Given the description of an element on the screen output the (x, y) to click on. 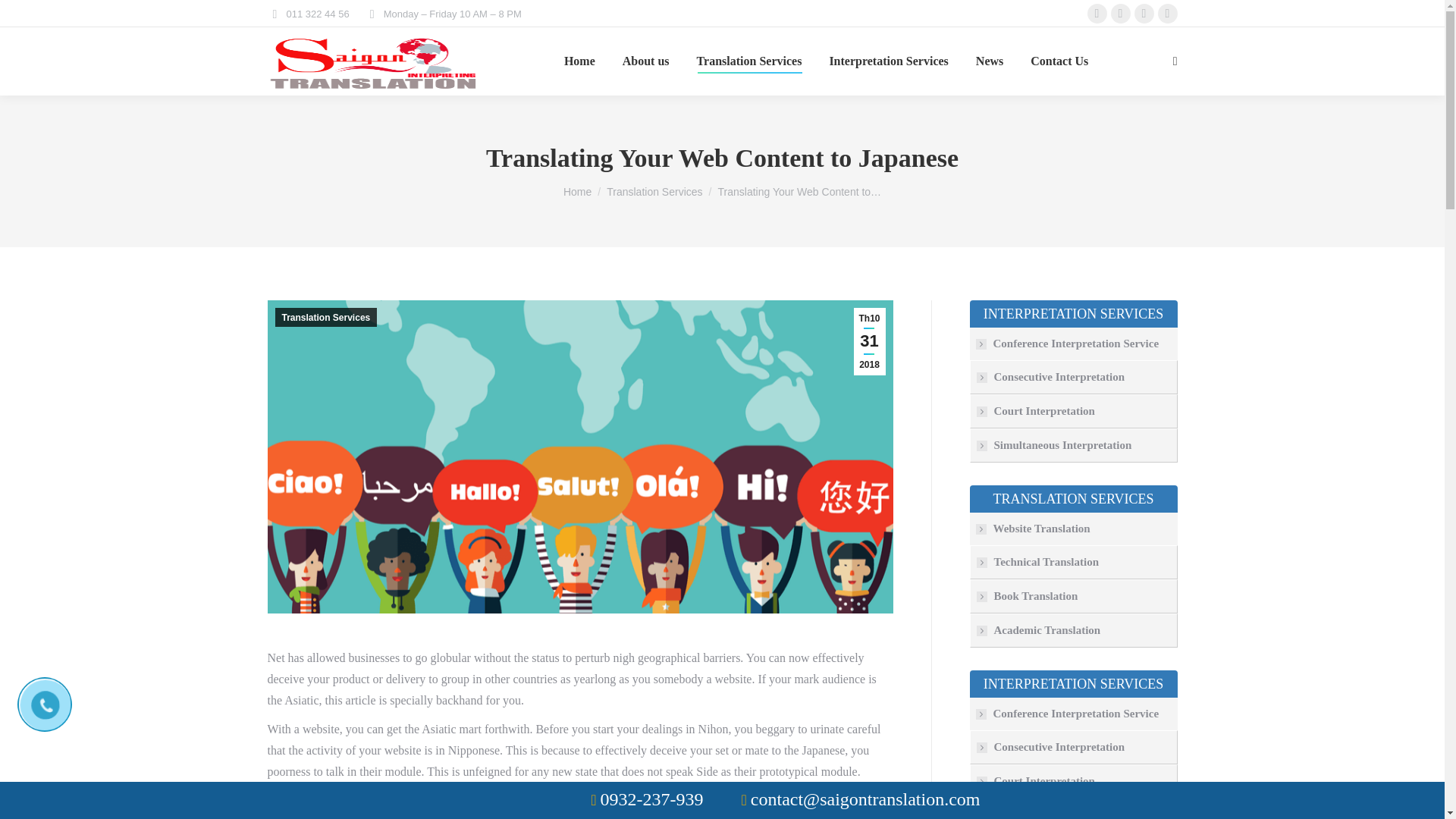
About us (646, 60)
X page opens in new window (1120, 13)
Instagram page opens in new window (1144, 13)
Facebook page opens in new window (1096, 13)
Home (579, 60)
YouTube page opens in new window (1167, 13)
X page opens in new window (1120, 13)
YouTube page opens in new window (1167, 13)
News (989, 60)
Contact Us (1058, 60)
Go! (24, 16)
Interpretation Services (887, 60)
Instagram page opens in new window (1144, 13)
Translation Services (749, 60)
Home (577, 191)
